Given the description of an element on the screen output the (x, y) to click on. 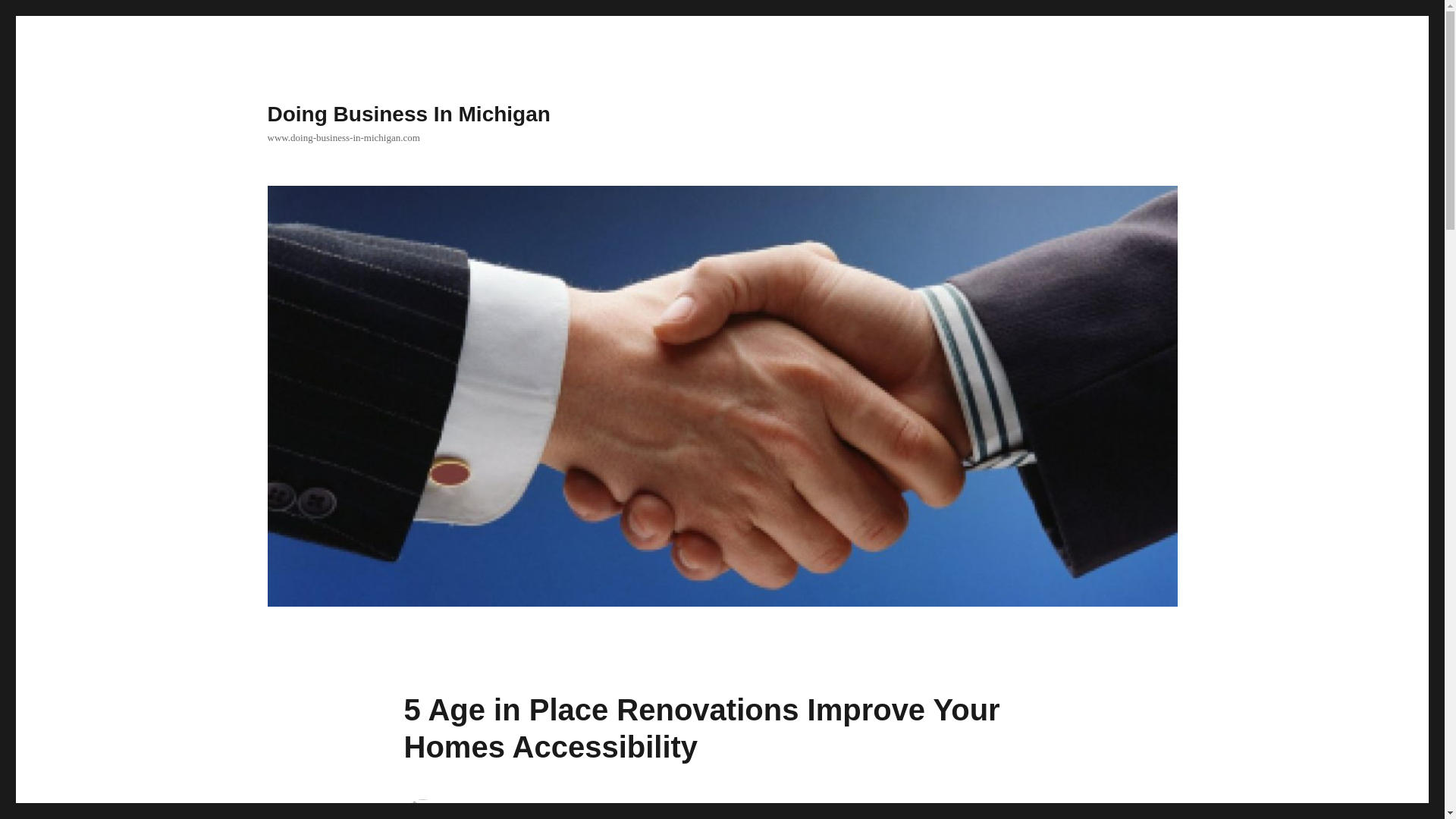
looking for that first home (789, 807)
Doing Business In Michigan (408, 114)
